Given the description of an element on the screen output the (x, y) to click on. 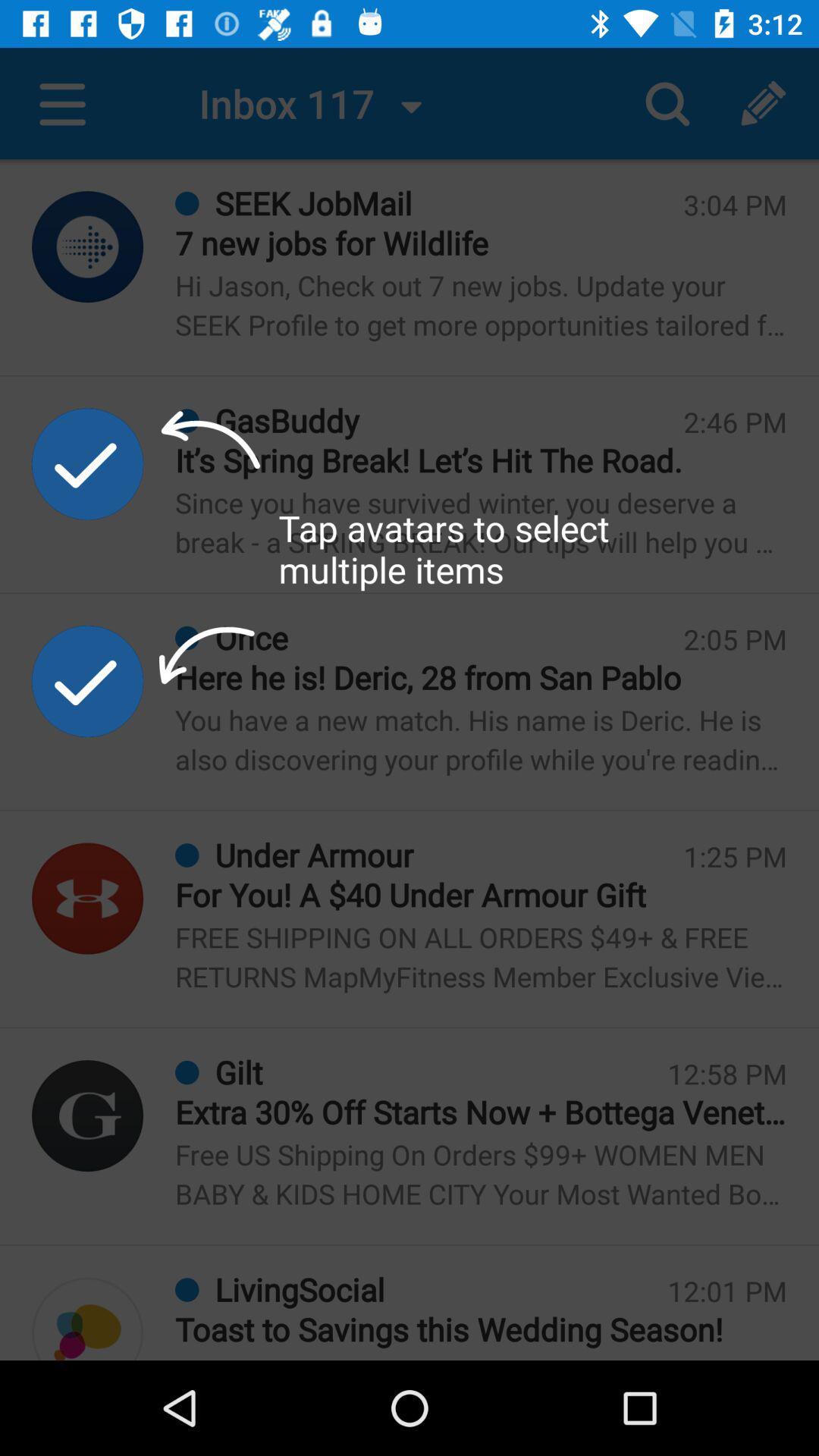
go to advertisement (87, 1115)
